Given the description of an element on the screen output the (x, y) to click on. 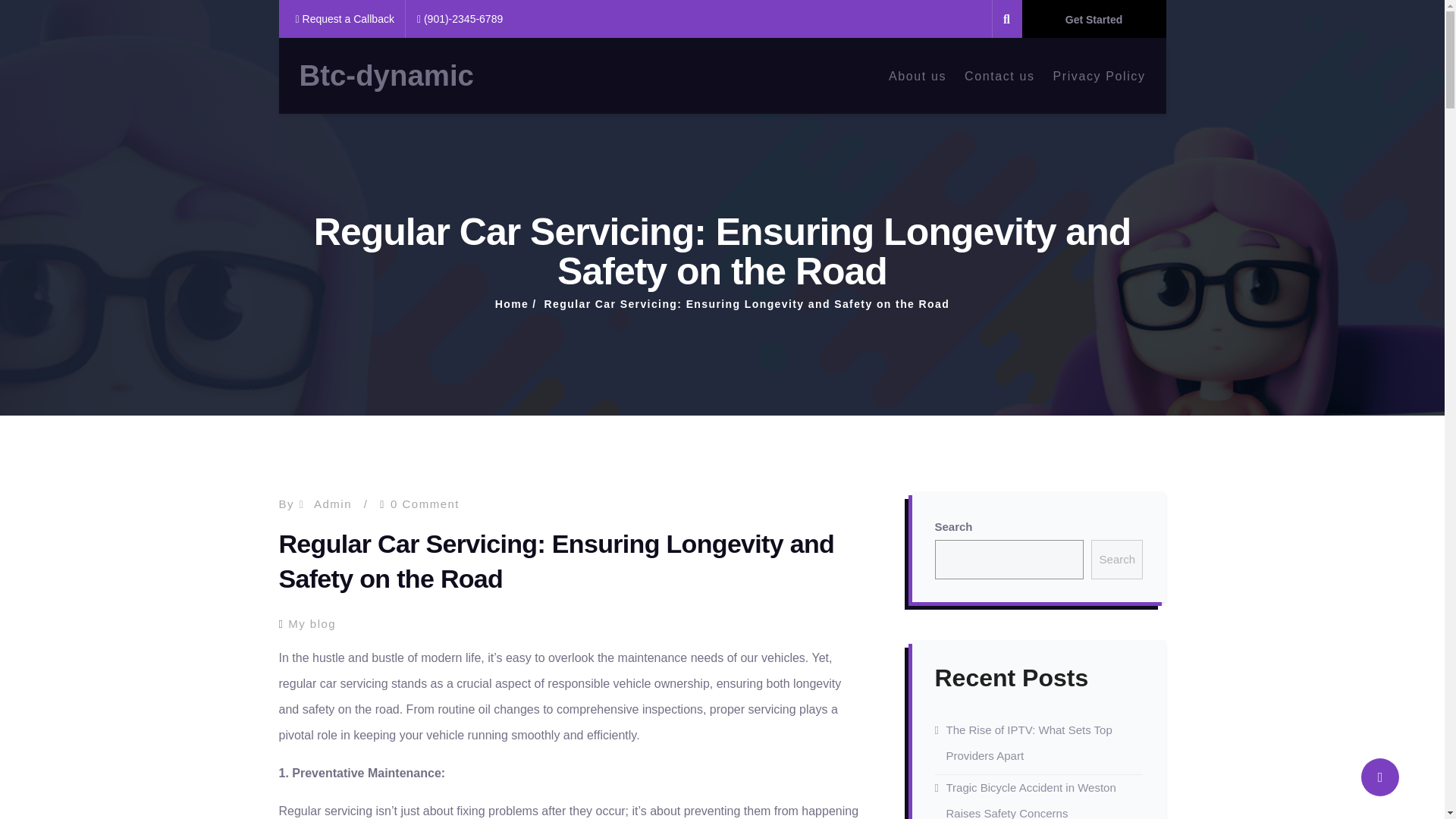
Get Started (1094, 18)
Privacy Policy (1098, 74)
My blog (312, 623)
Btc-dynamic (385, 75)
Contact us (998, 74)
0 Comment (425, 503)
About us (917, 74)
Home (512, 304)
Search (1116, 561)
